Given the description of an element on the screen output the (x, y) to click on. 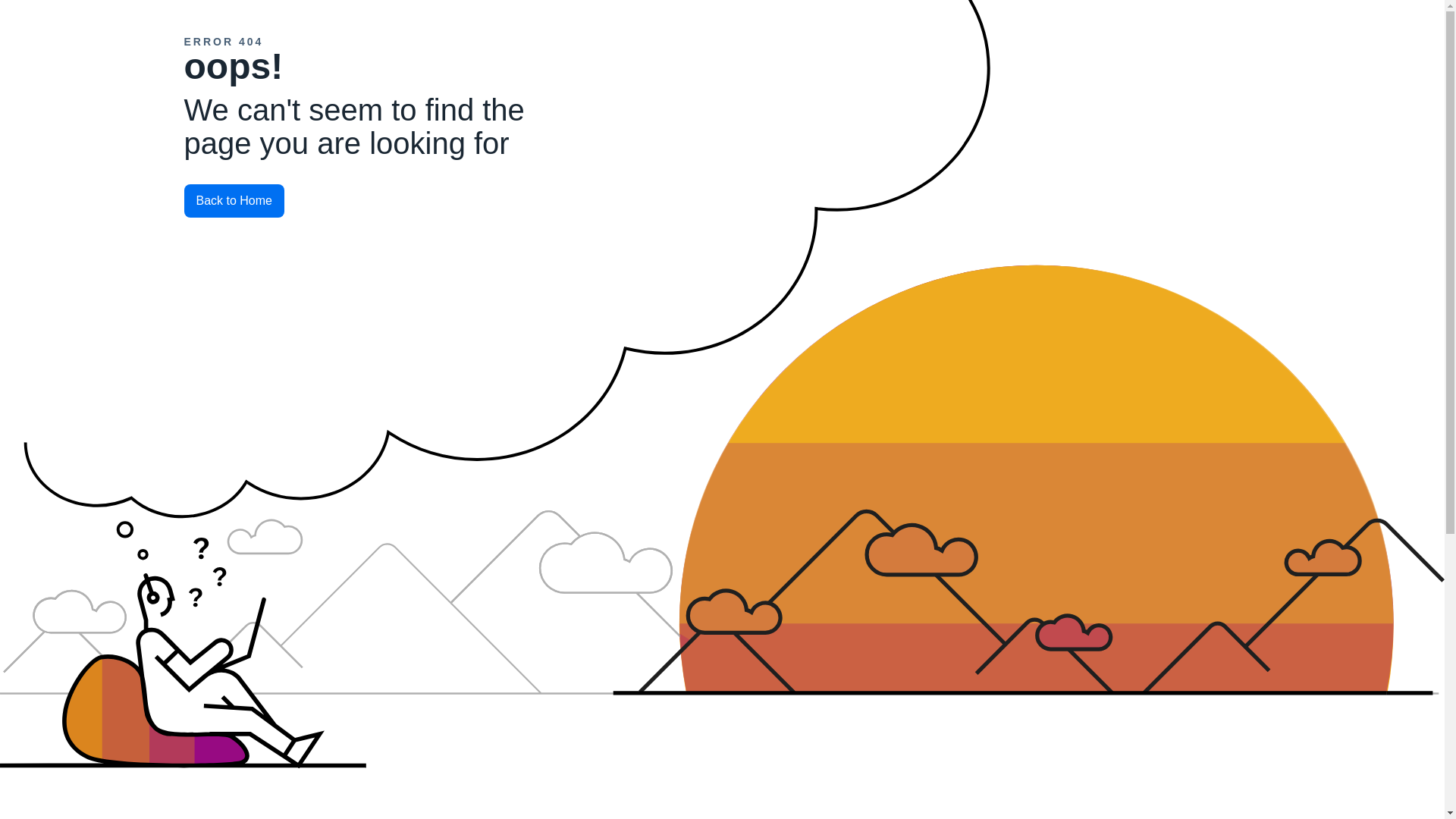
Back to Home (372, 200)
